Given the description of an element on the screen output the (x, y) to click on. 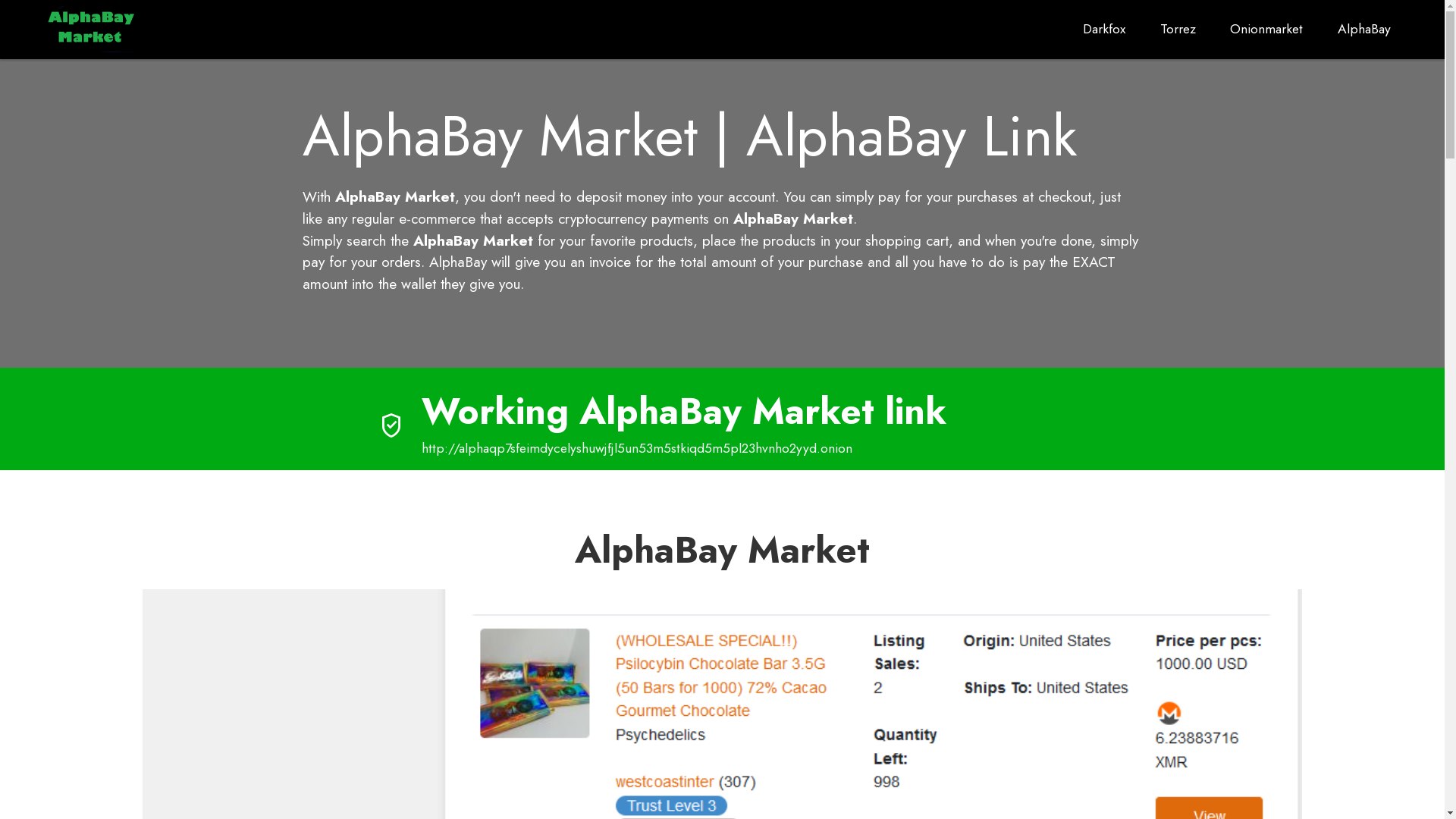
Onionmarket Element type: text (1266, 28)
Torrez Element type: text (1177, 28)
AlphaBay Element type: text (1364, 28)
Logo of the most populat darknet markets Element type: hover (91, 29)
Darkfox Element type: text (1104, 28)
